Given the description of an element on the screen output the (x, y) to click on. 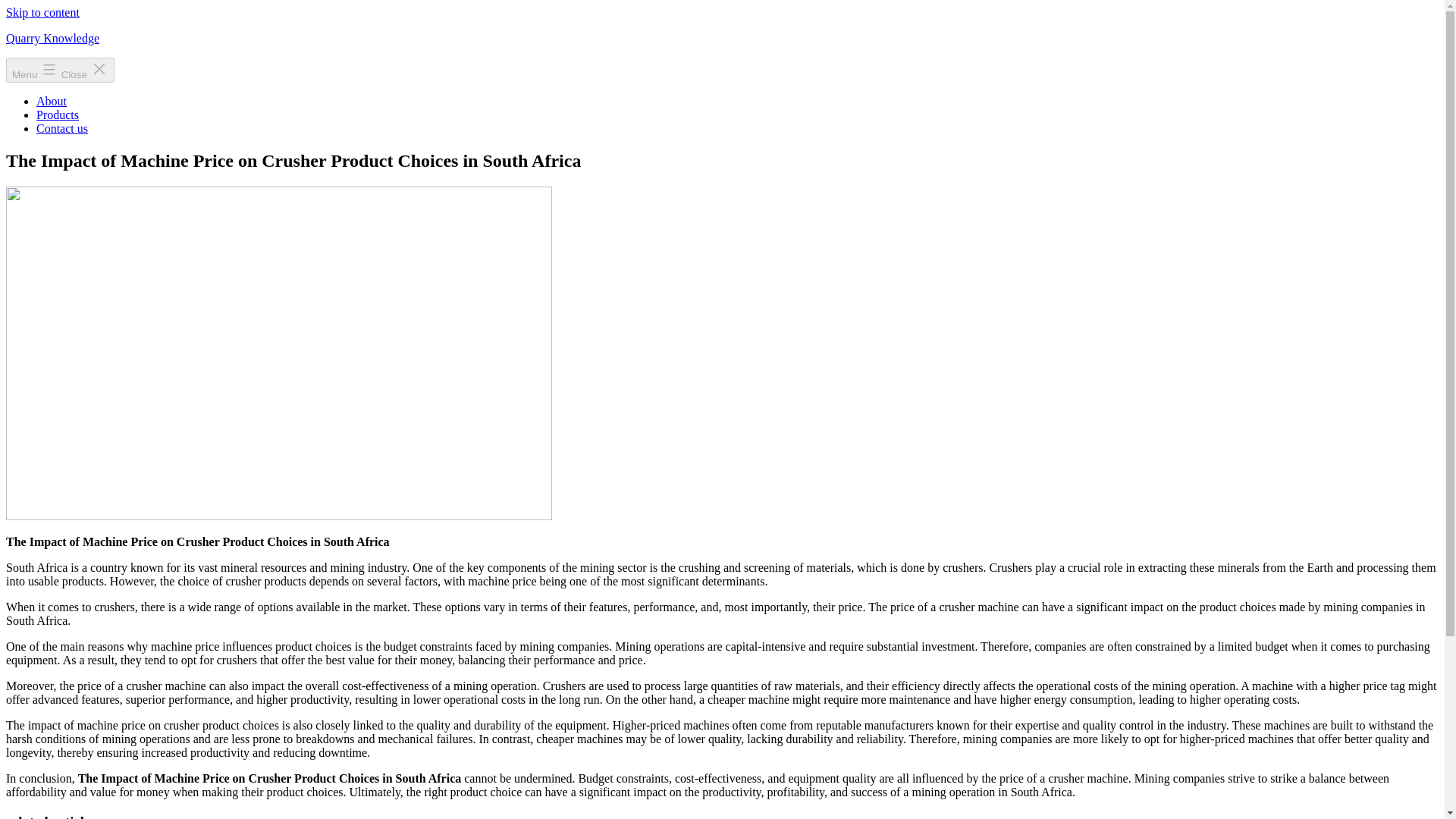
Skip to content (42, 11)
Products (57, 114)
Quarry Knowledge (52, 38)
Contact us (61, 128)
Menu Close (60, 69)
About (51, 101)
